Given the description of an element on the screen output the (x, y) to click on. 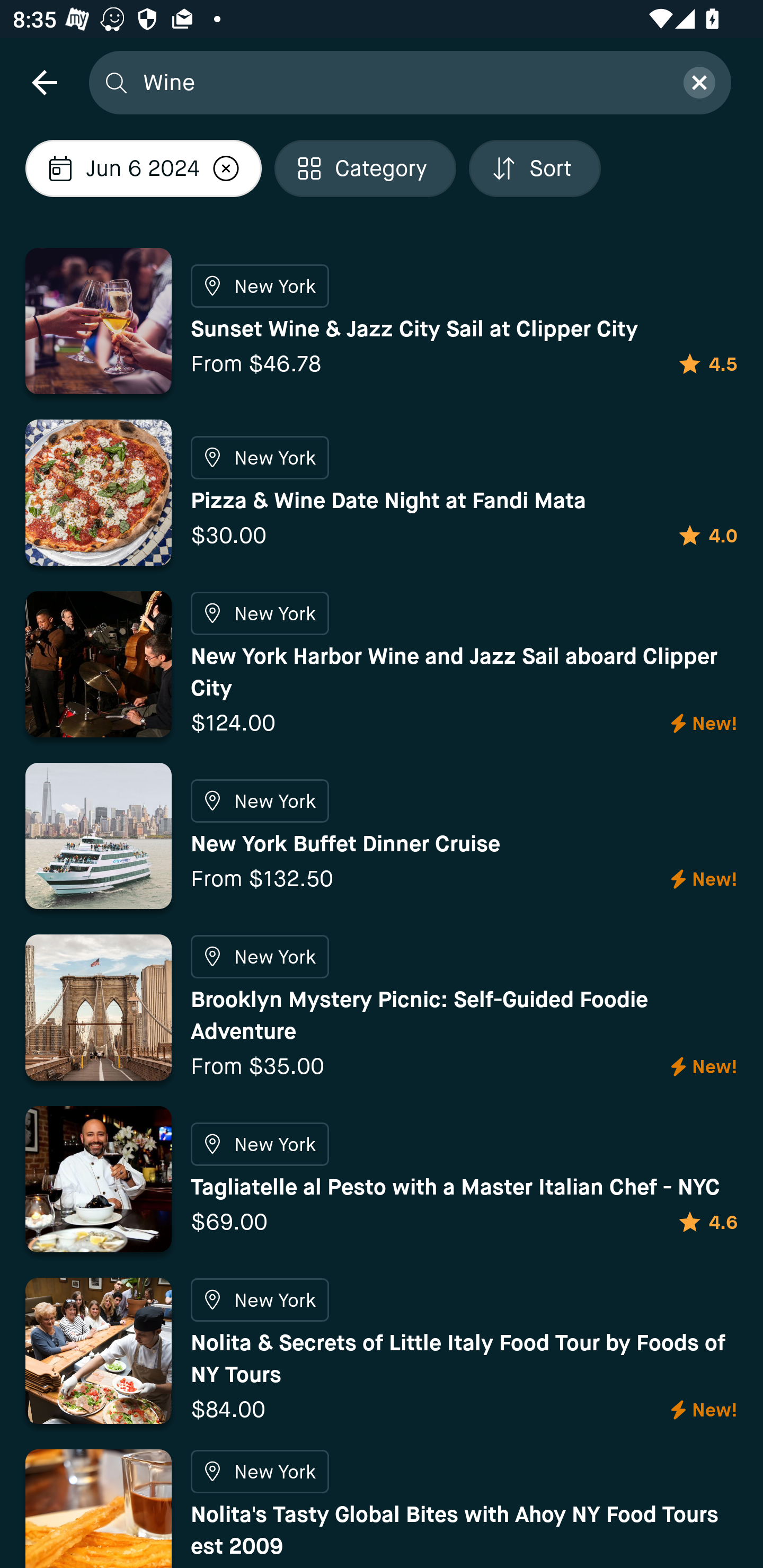
navigation icon (44, 81)
Wine (402, 81)
Localized description (226, 168)
Localized description Category (365, 168)
Localized description Sort (535, 168)
